Given the description of an element on the screen output the (x, y) to click on. 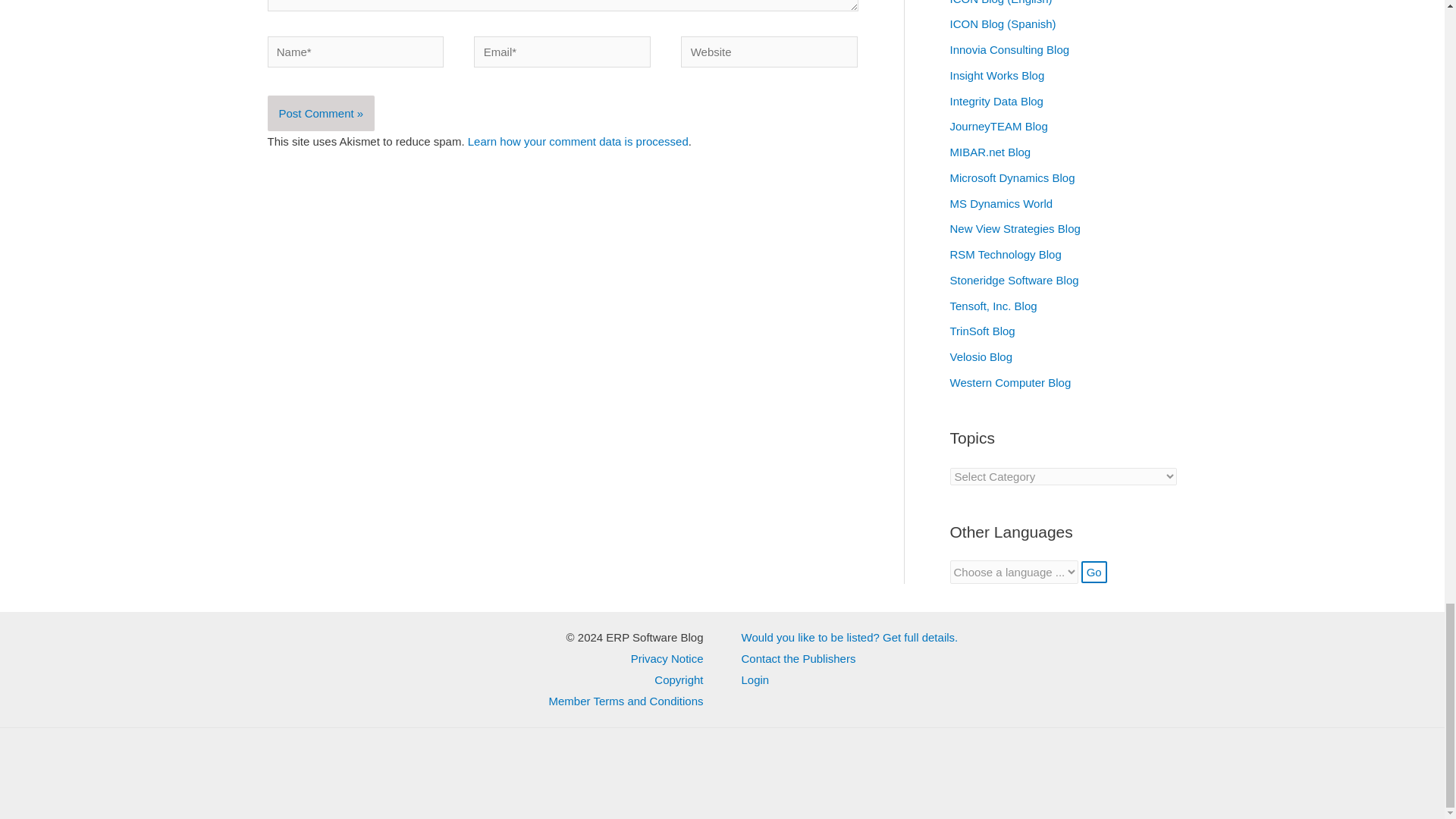
Go (1093, 572)
